Given the description of an element on the screen output the (x, y) to click on. 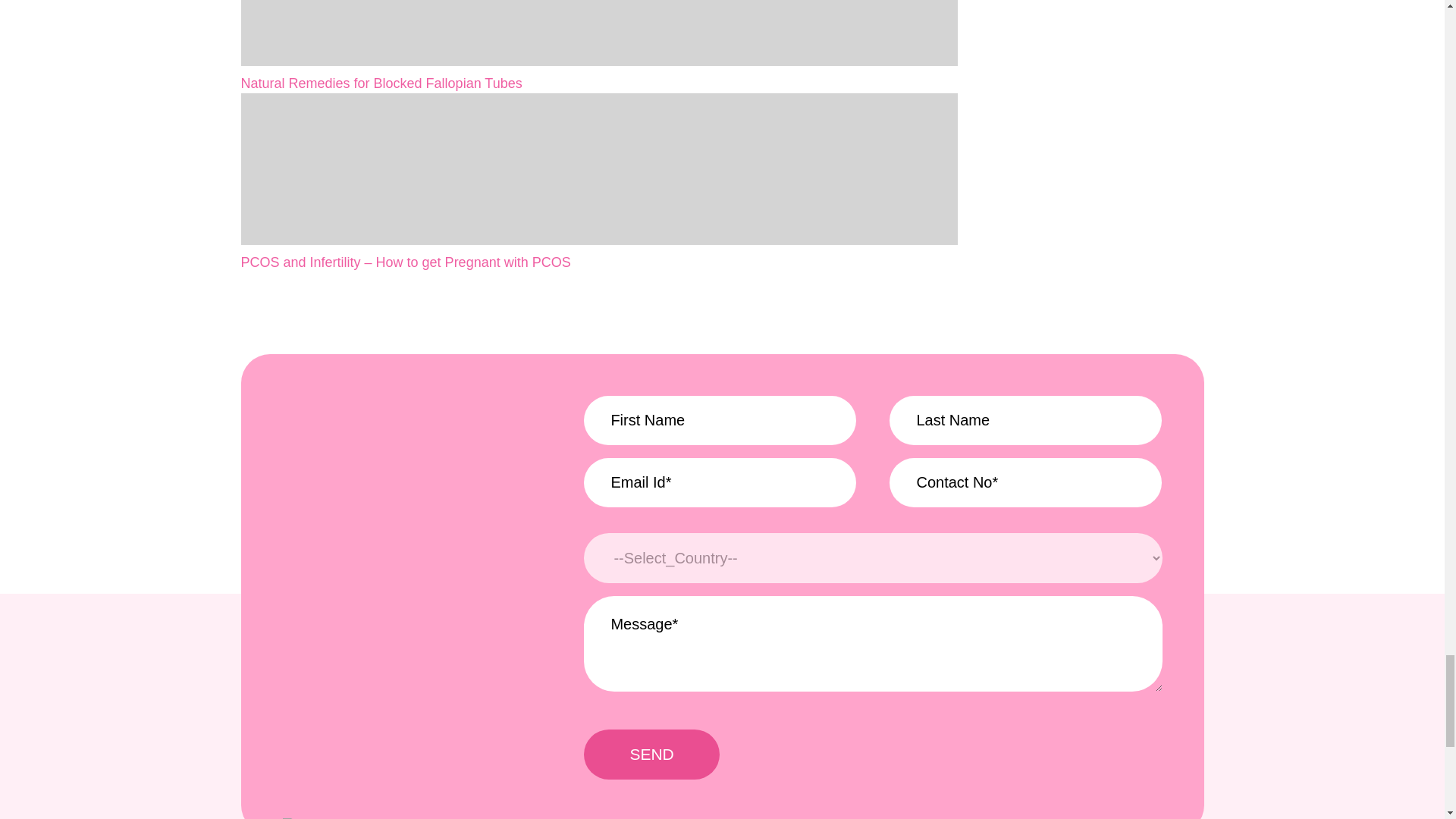
Send (651, 754)
